Given the description of an element on the screen output the (x, y) to click on. 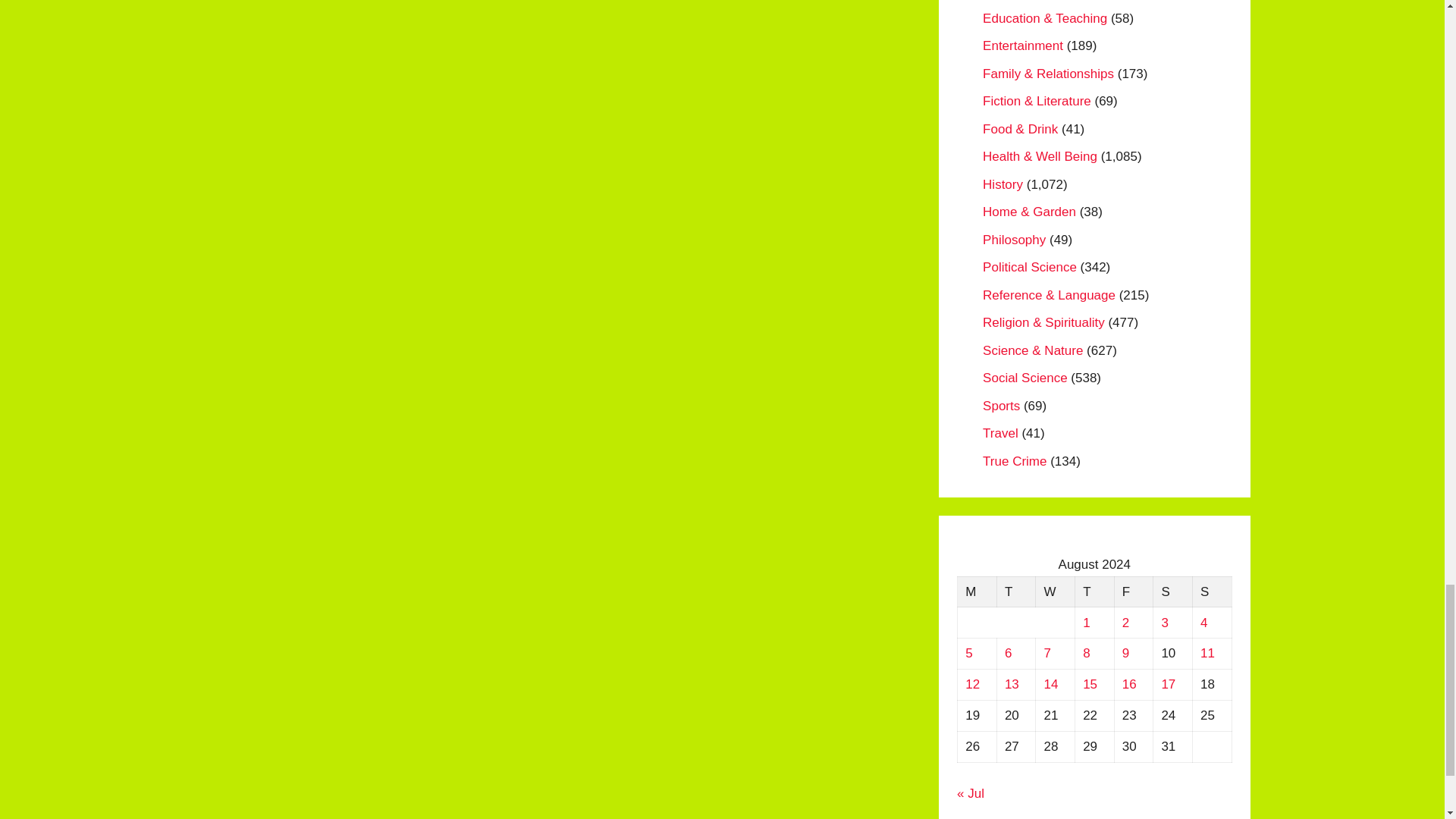
Saturday (1172, 591)
Tuesday (1015, 591)
Thursday (1093, 591)
Friday (1133, 591)
Sunday (1211, 591)
Wednesday (1055, 591)
Monday (977, 591)
